Given the description of an element on the screen output the (x, y) to click on. 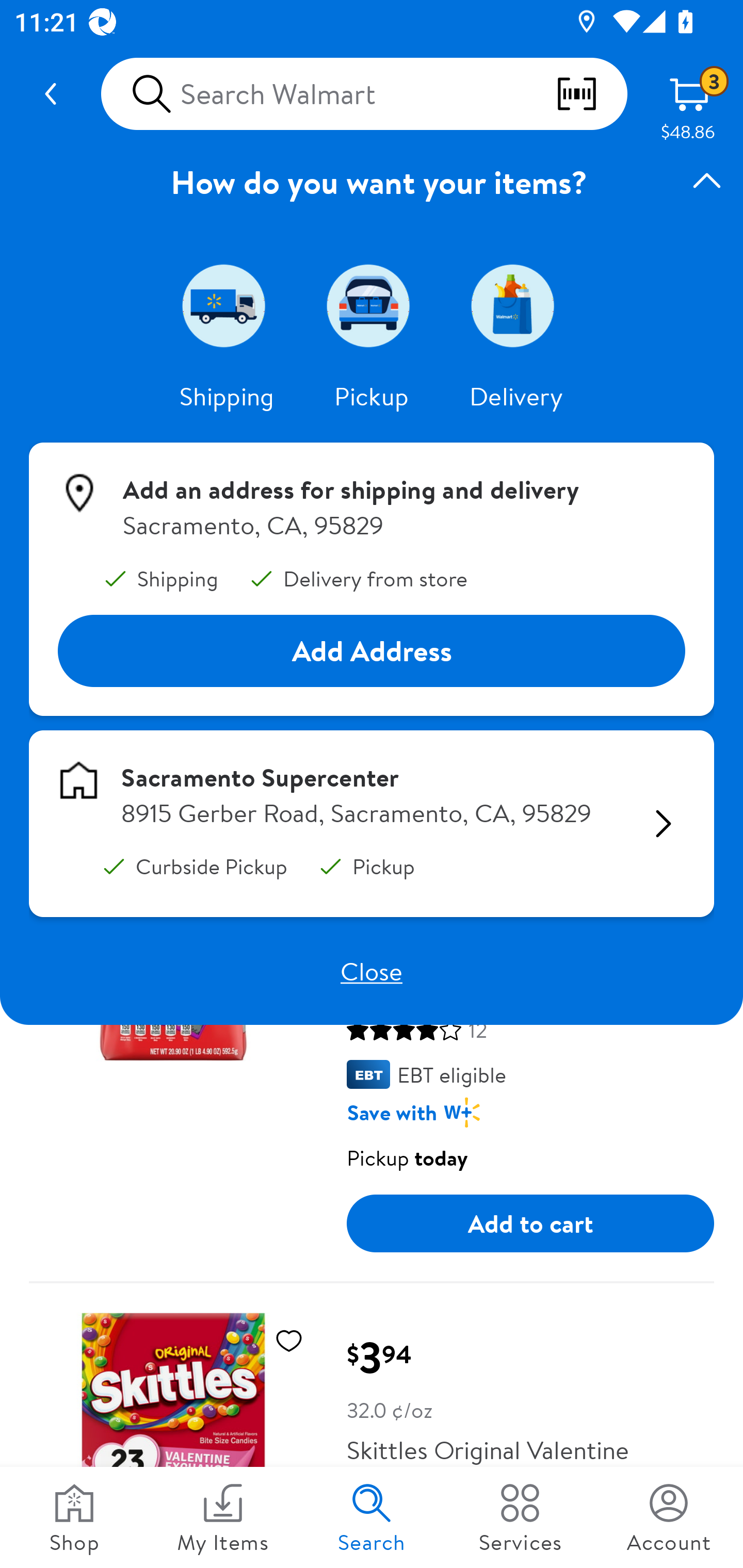
Navigate up (50, 93)
Search Walmart scan barcodes qr codes and more (364, 94)
scan barcodes qr codes and more (591, 94)
How do you want your items? expanded (371, 181)
Shipping 1 of 3 (226, 305)
Pickup 2 of 3 (371, 305)
Delivery 3 of 3 (515, 305)
Add Address (371, 650)
Close (371, 970)
Add to cart (530, 1223)
Shop (74, 1517)
My Items (222, 1517)
Services (519, 1517)
Account (668, 1517)
